Given the description of an element on the screen output the (x, y) to click on. 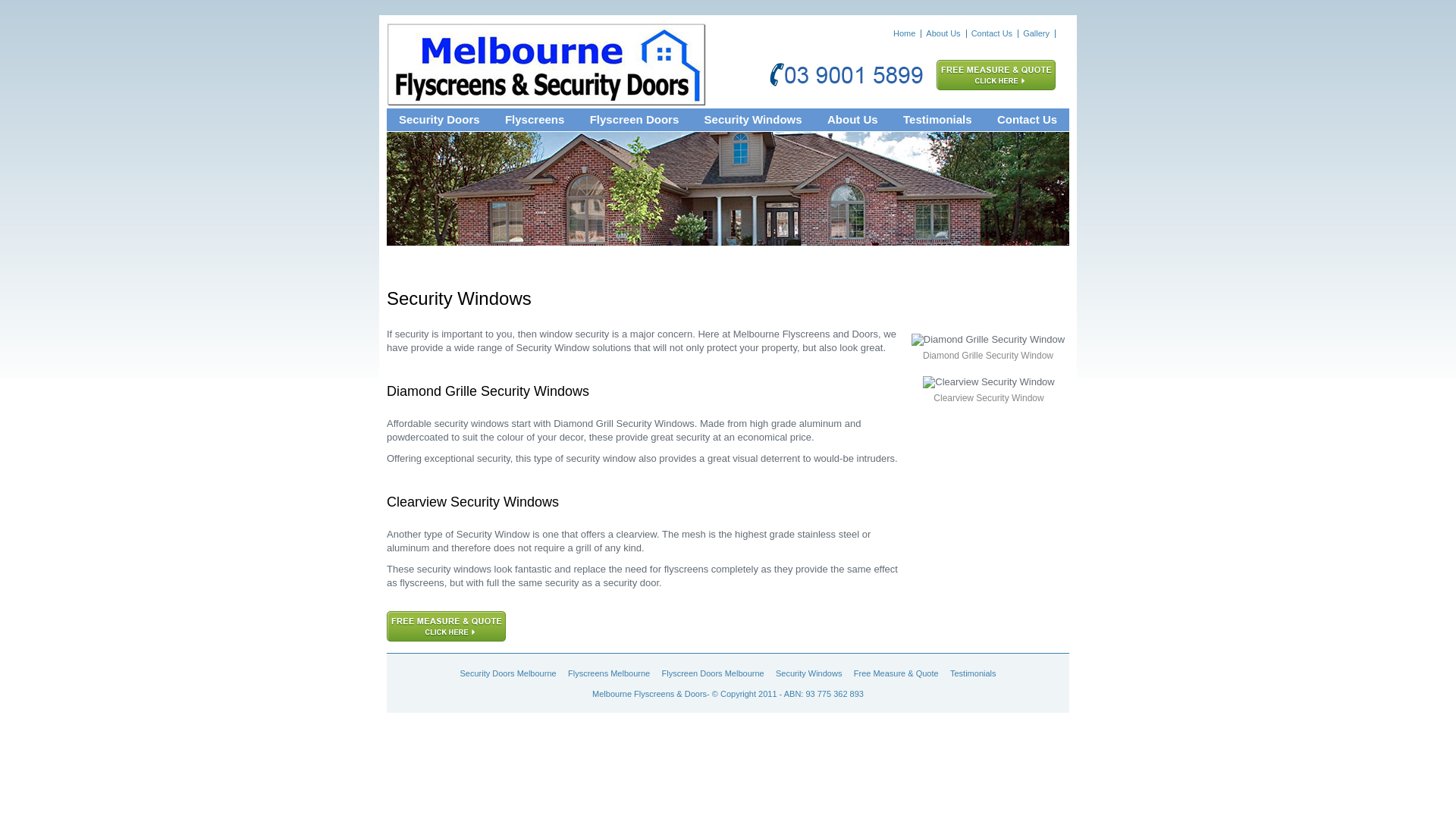
secwindow02 Element type: hover (988, 382)
Flyscreen Doors Element type: text (634, 118)
Security Doors Melbourne Element type: text (507, 673)
Flyscreen Doors Melbourne Element type: text (712, 673)
About Us Element type: text (852, 118)
Testimonials Element type: text (937, 118)
Testimonials Element type: text (972, 673)
Contact Us Element type: text (991, 32)
Free Measure & Quote Element type: text (896, 673)
Flyscreens Element type: text (534, 118)
Home Element type: text (904, 32)
secwindow01 Element type: hover (987, 339)
Gallery Element type: text (1035, 32)
Flyscreens Melbourne Element type: text (608, 673)
About Us Element type: text (942, 32)
Contact Us Element type: text (1026, 118)
Security Doors Element type: text (439, 118)
Security Windows Element type: text (753, 118)
Security Windows Element type: text (808, 673)
